Given the description of an element on the screen output the (x, y) to click on. 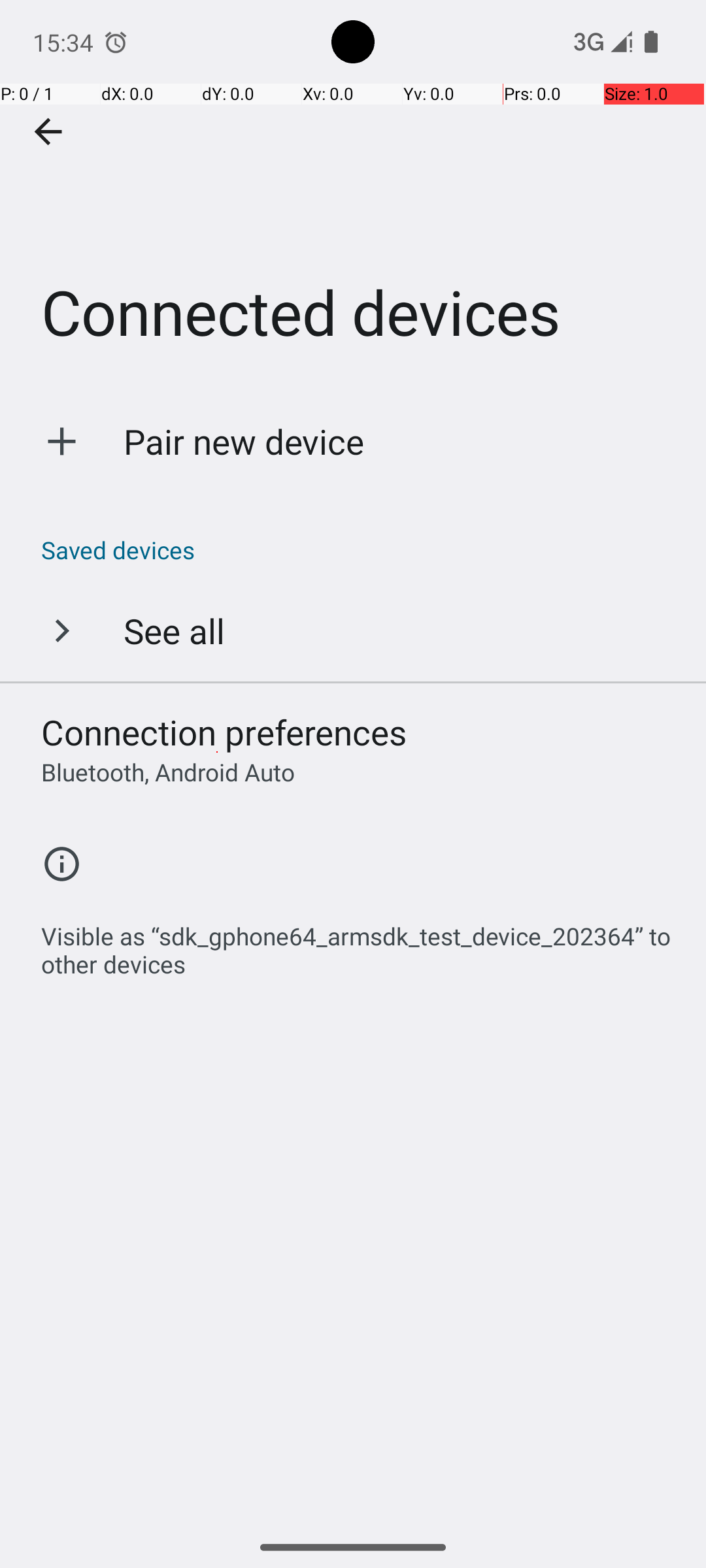
Visible as “sdk_gphone64_armsdk_test_device_202364” to other devices Element type: android.widget.TextView (359, 942)
